Given the description of an element on the screen output the (x, y) to click on. 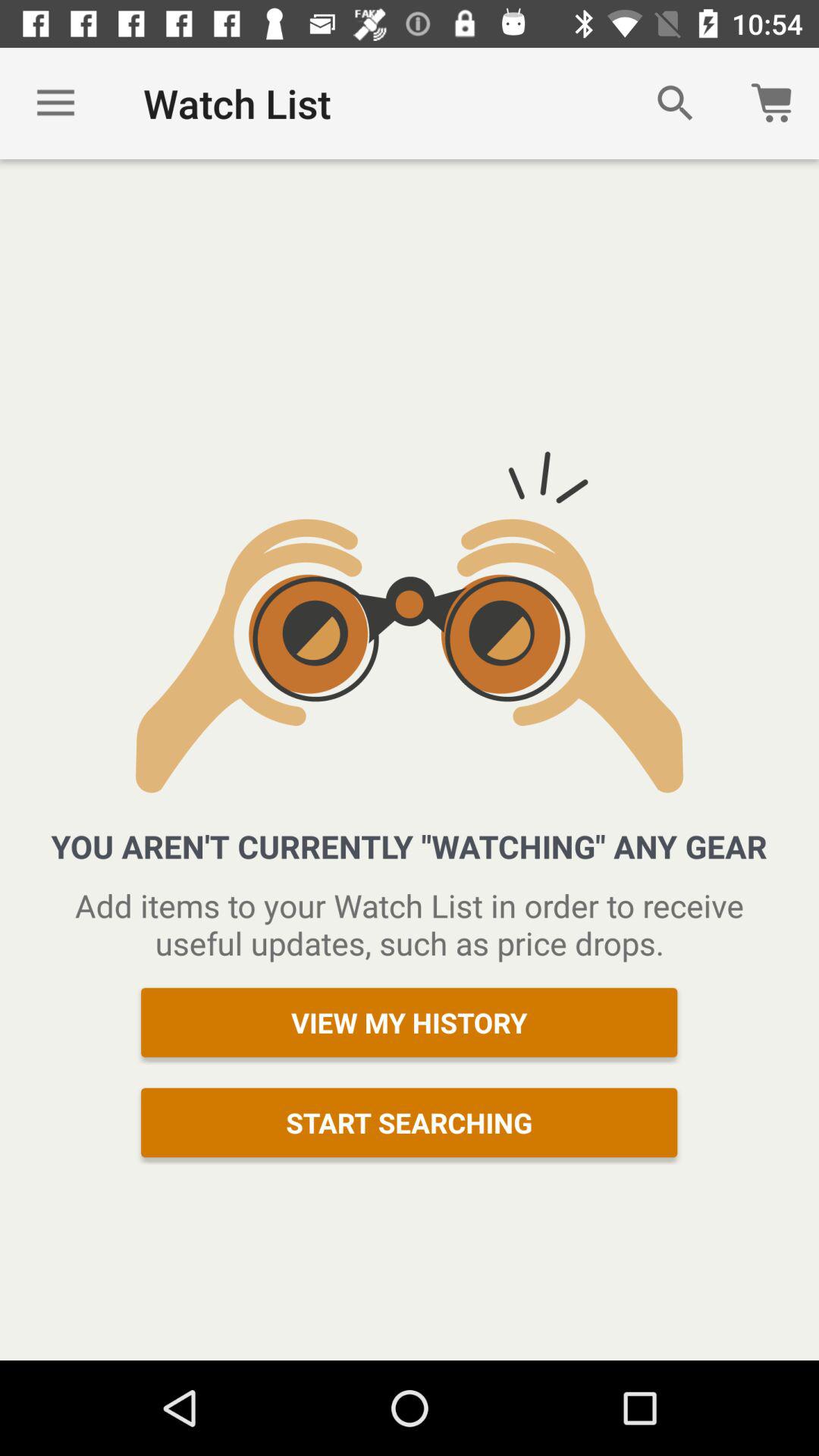
turn off the icon next to the watch list icon (55, 103)
